Given the description of an element on the screen output the (x, y) to click on. 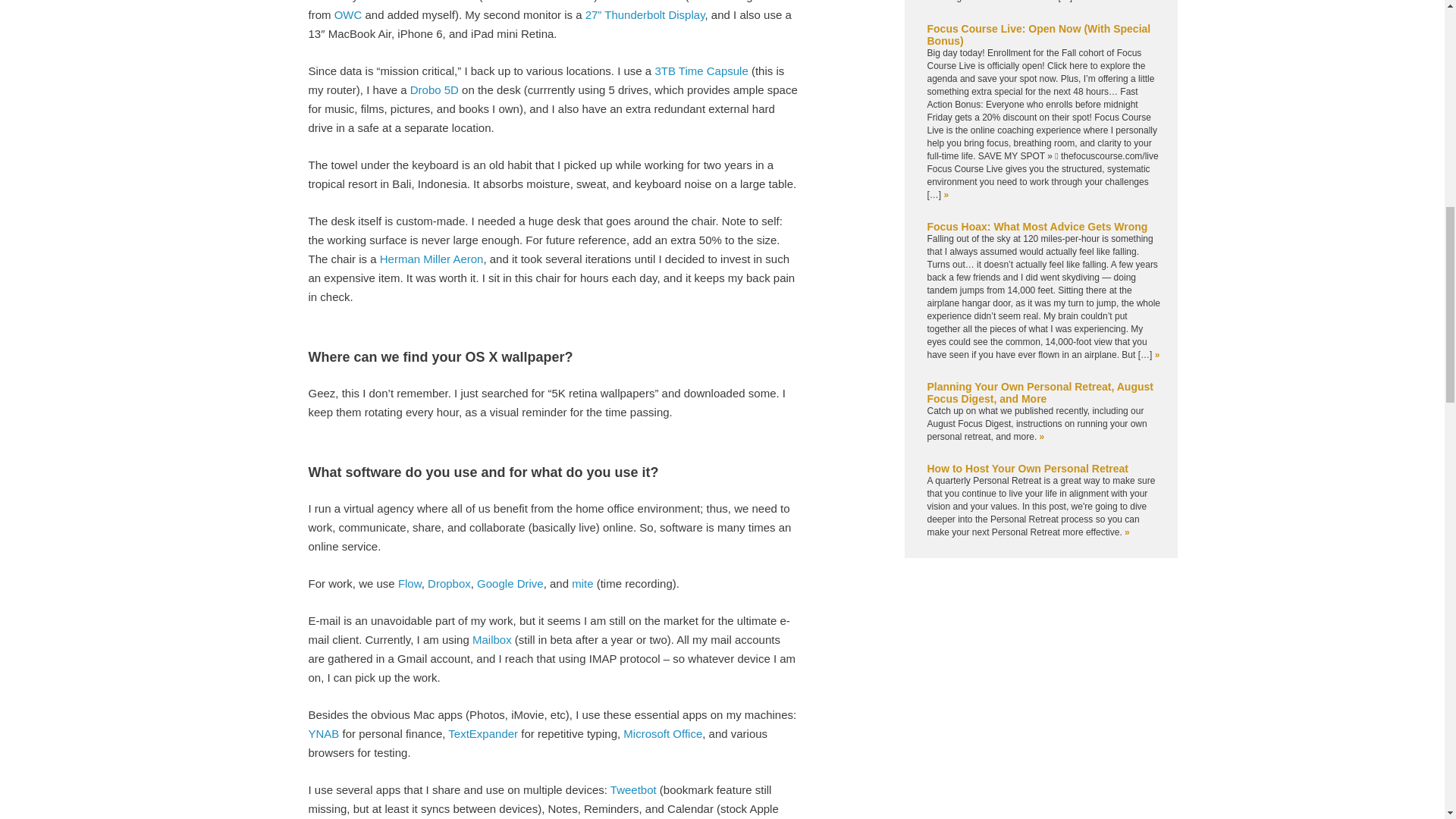
Herman Miller Aeron (431, 258)
mite (582, 583)
Microsoft Office (662, 733)
3TB Time Capsule (700, 70)
Dropbox (449, 583)
Google Drive (510, 583)
Mailbox (491, 639)
Flow (409, 583)
Drobo 5D (434, 89)
YNAB (323, 733)
